Given the description of an element on the screen output the (x, y) to click on. 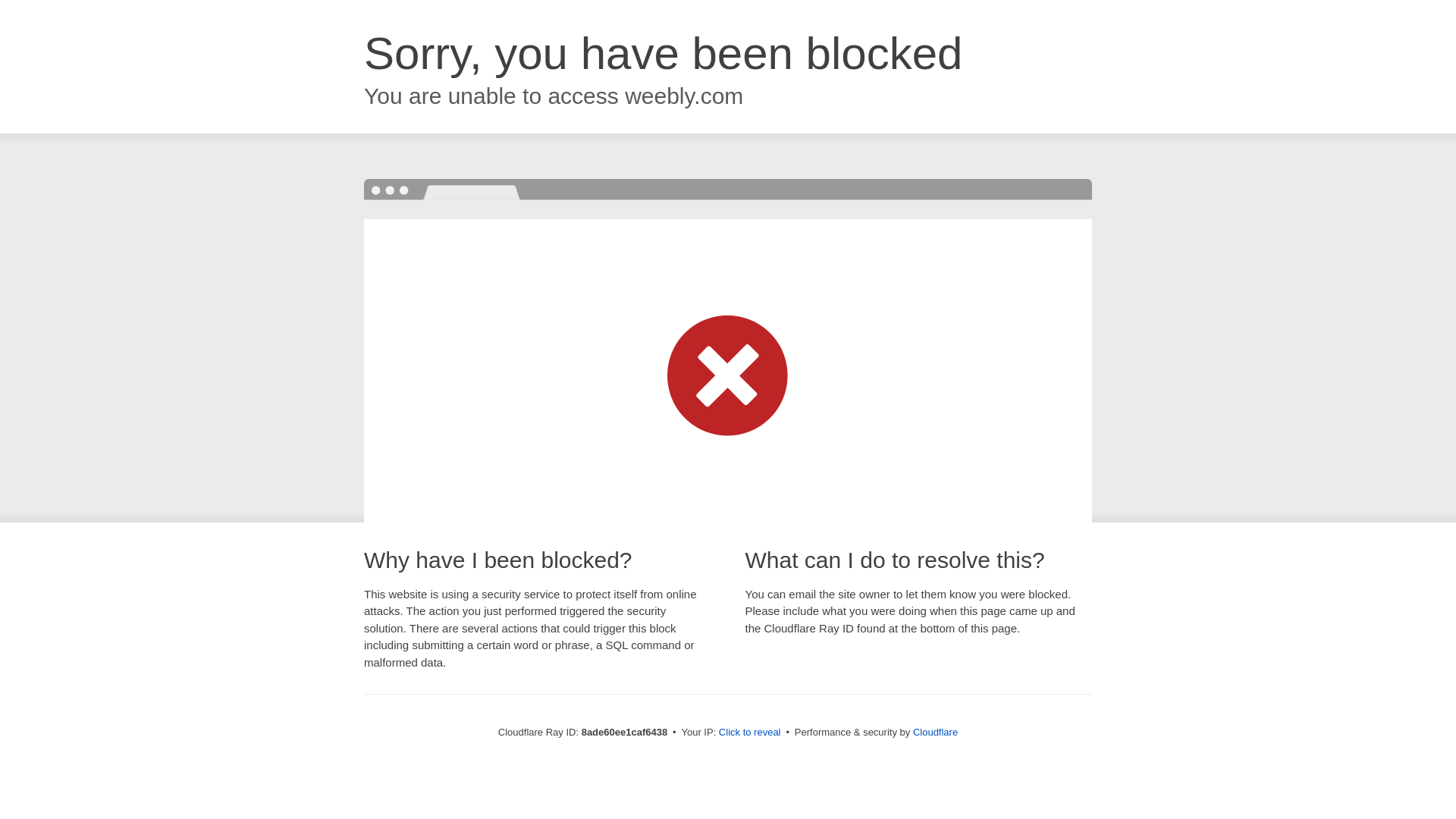
Click to reveal (749, 732)
Cloudflare (935, 731)
